Given the description of an element on the screen output the (x, y) to click on. 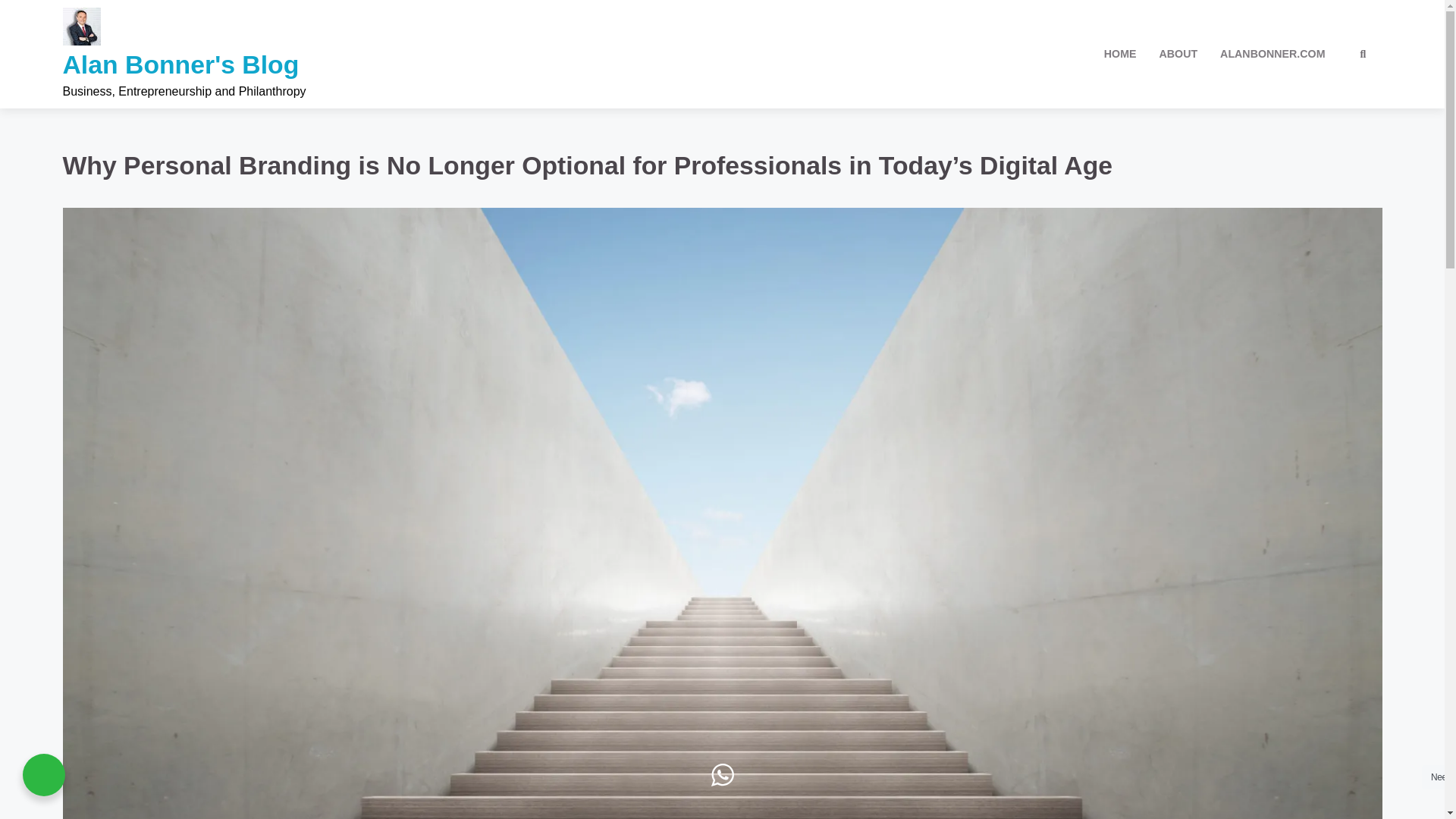
HOME (1120, 54)
ALANBONNER.COM (1272, 54)
Alan Bonner's Blog (180, 63)
Search (1334, 93)
ABOUT (1178, 54)
Search (1362, 54)
